Given the description of an element on the screen output the (x, y) to click on. 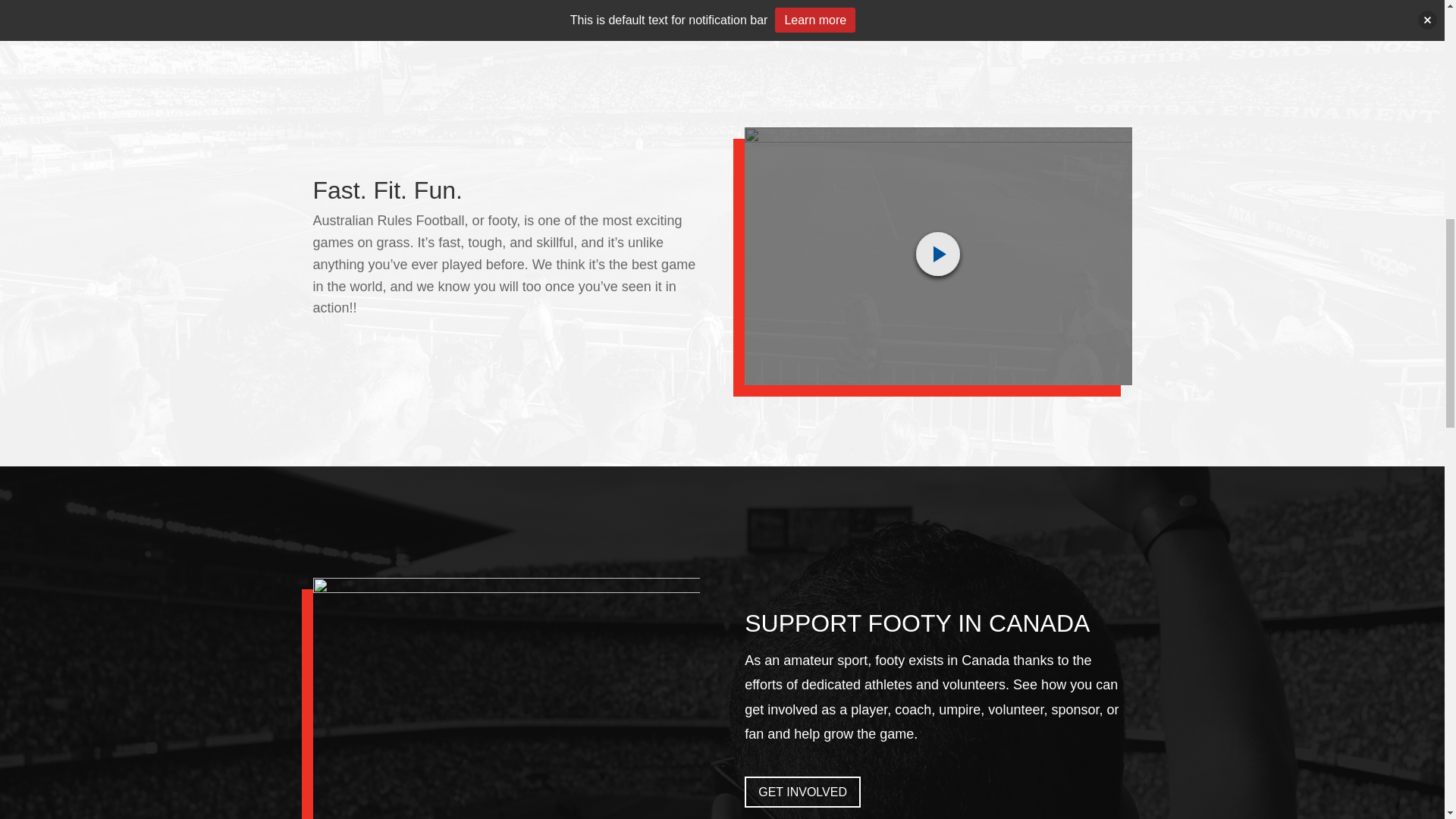
support-footy (505, 698)
btn-play-icon (937, 256)
GET INVOLVED (802, 791)
what-is-footy (937, 255)
